Given the description of an element on the screen output the (x, y) to click on. 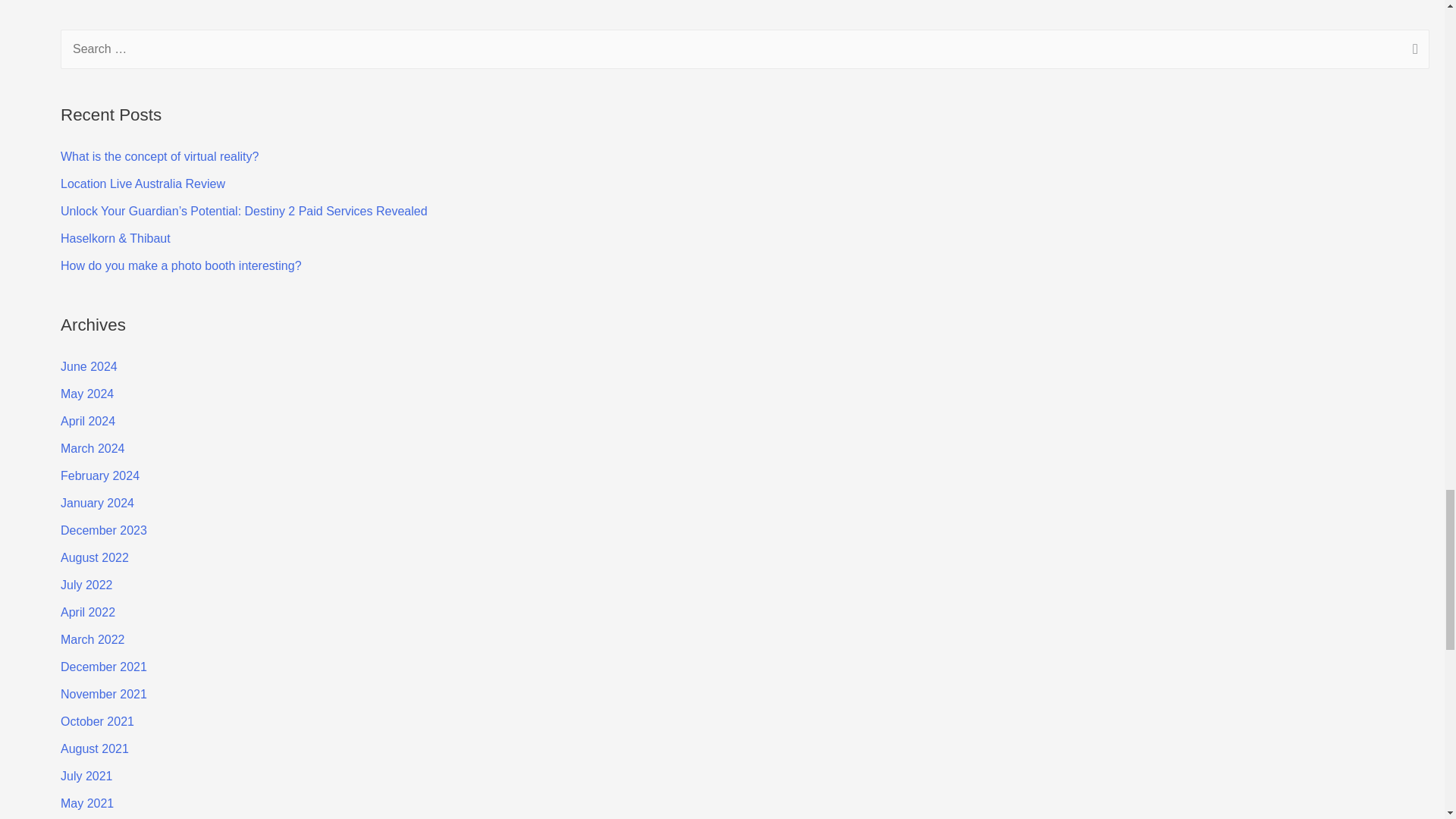
August 2021 (95, 748)
How do you make a photo booth interesting? (181, 265)
Search (1411, 50)
What is the concept of virtual reality? (160, 155)
March 2022 (93, 639)
July 2022 (87, 584)
January 2024 (97, 502)
May 2021 (87, 802)
December 2021 (104, 666)
June 2024 (89, 366)
March 2024 (93, 448)
November 2021 (104, 694)
October 2021 (97, 721)
August 2022 (95, 557)
May 2024 (87, 393)
